Given the description of an element on the screen output the (x, y) to click on. 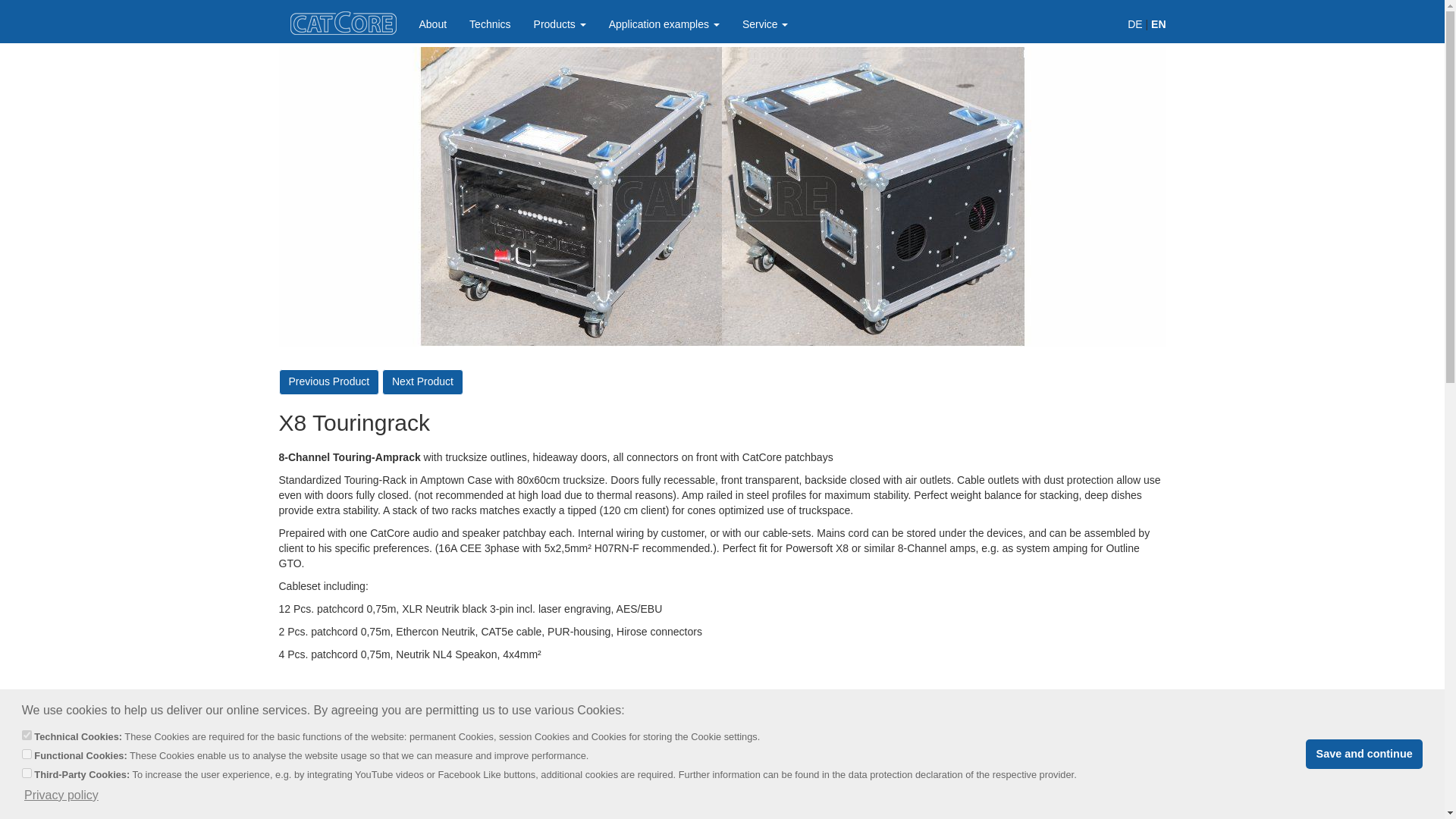
on (26, 735)
Save and continue (1364, 754)
on (26, 754)
Privacy policy (60, 794)
Products (559, 23)
on (26, 773)
Technics (489, 23)
Application examples (663, 23)
CatCore-Logo (342, 23)
About (432, 23)
